Given the description of an element on the screen output the (x, y) to click on. 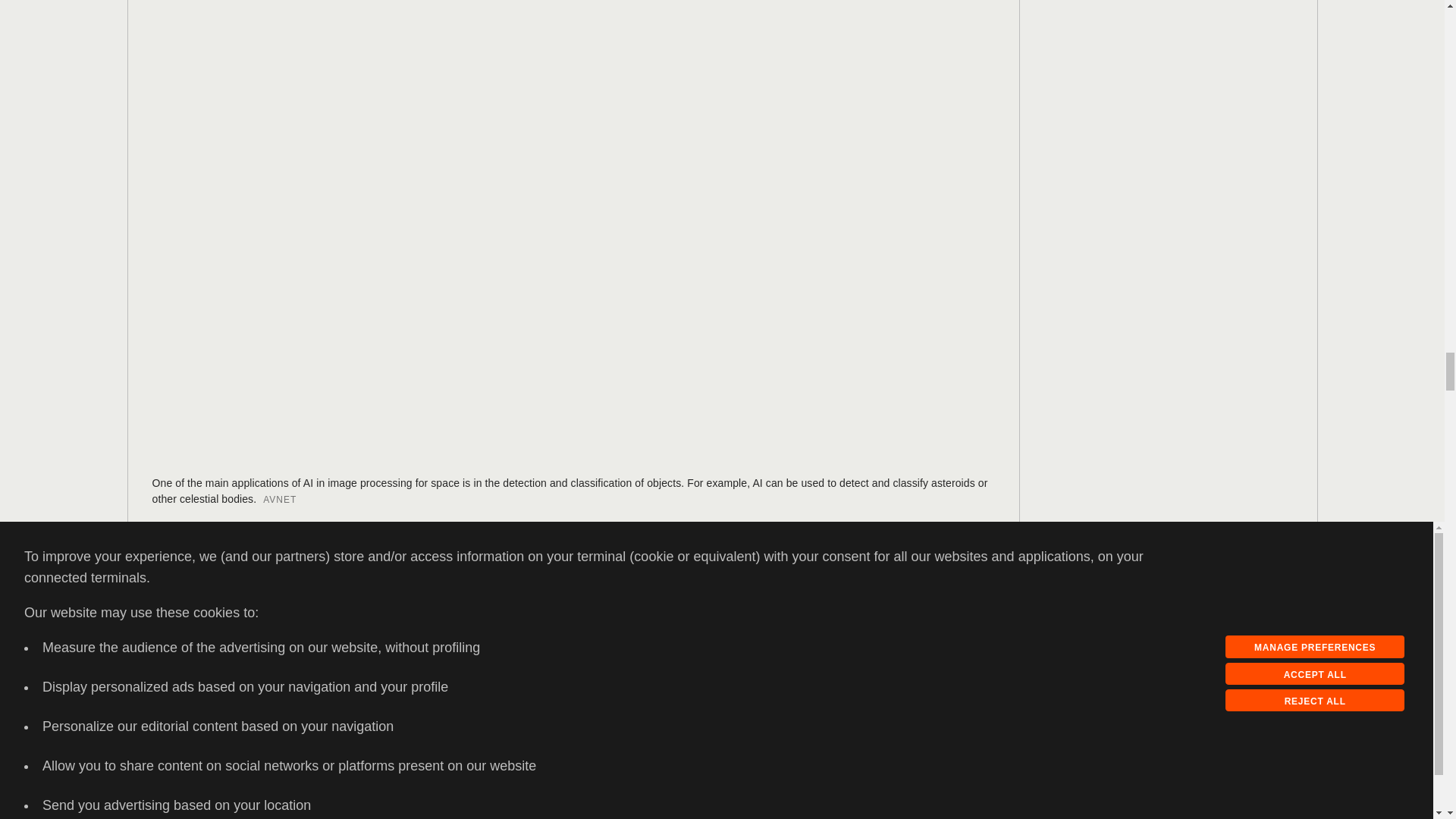
Copy this link to clipboard (192, 573)
